Given the description of an element on the screen output the (x, y) to click on. 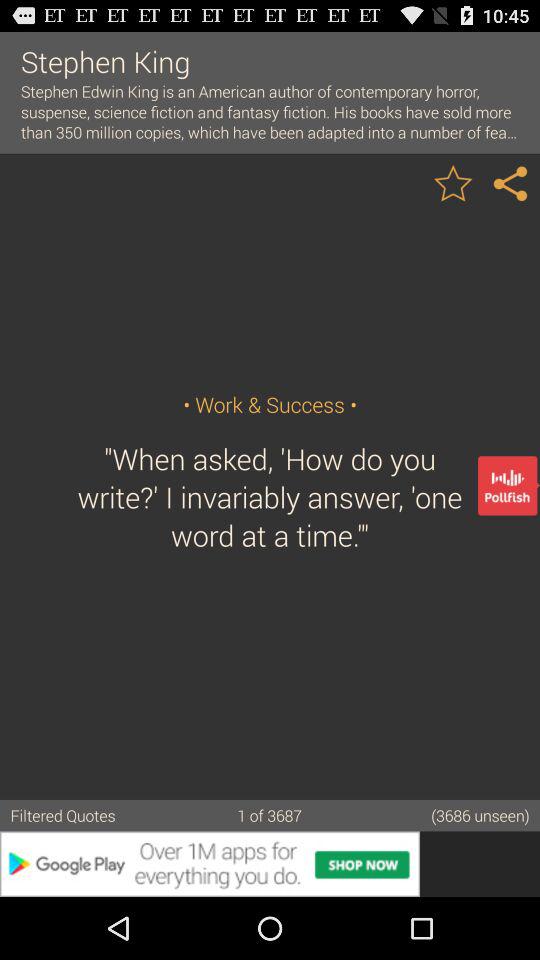
favorite quote (453, 182)
